Given the description of an element on the screen output the (x, y) to click on. 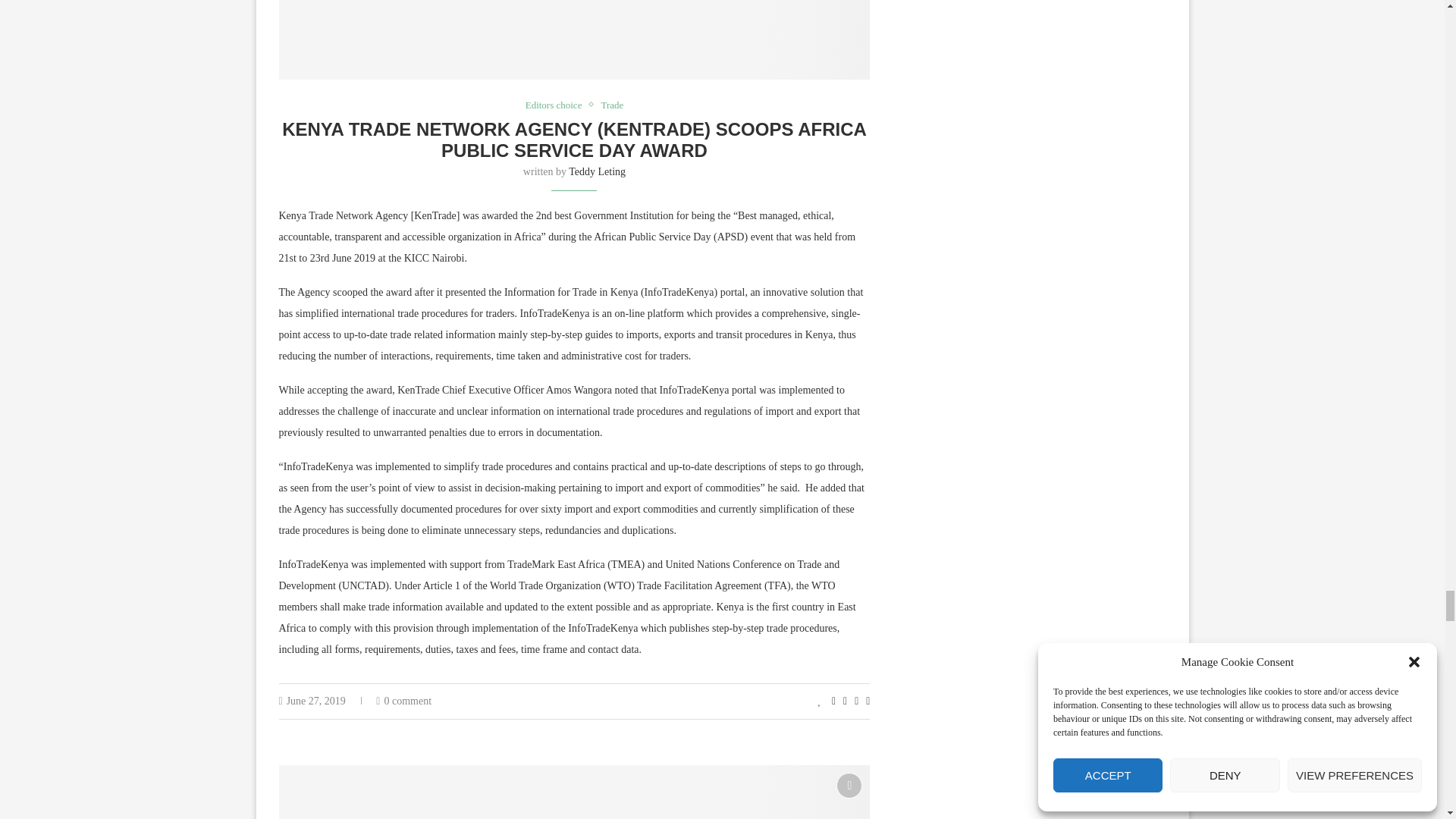
Reuben Kimani, Chief Executive Officer, Username Investments (574, 791)
